Given the description of an element on the screen output the (x, y) to click on. 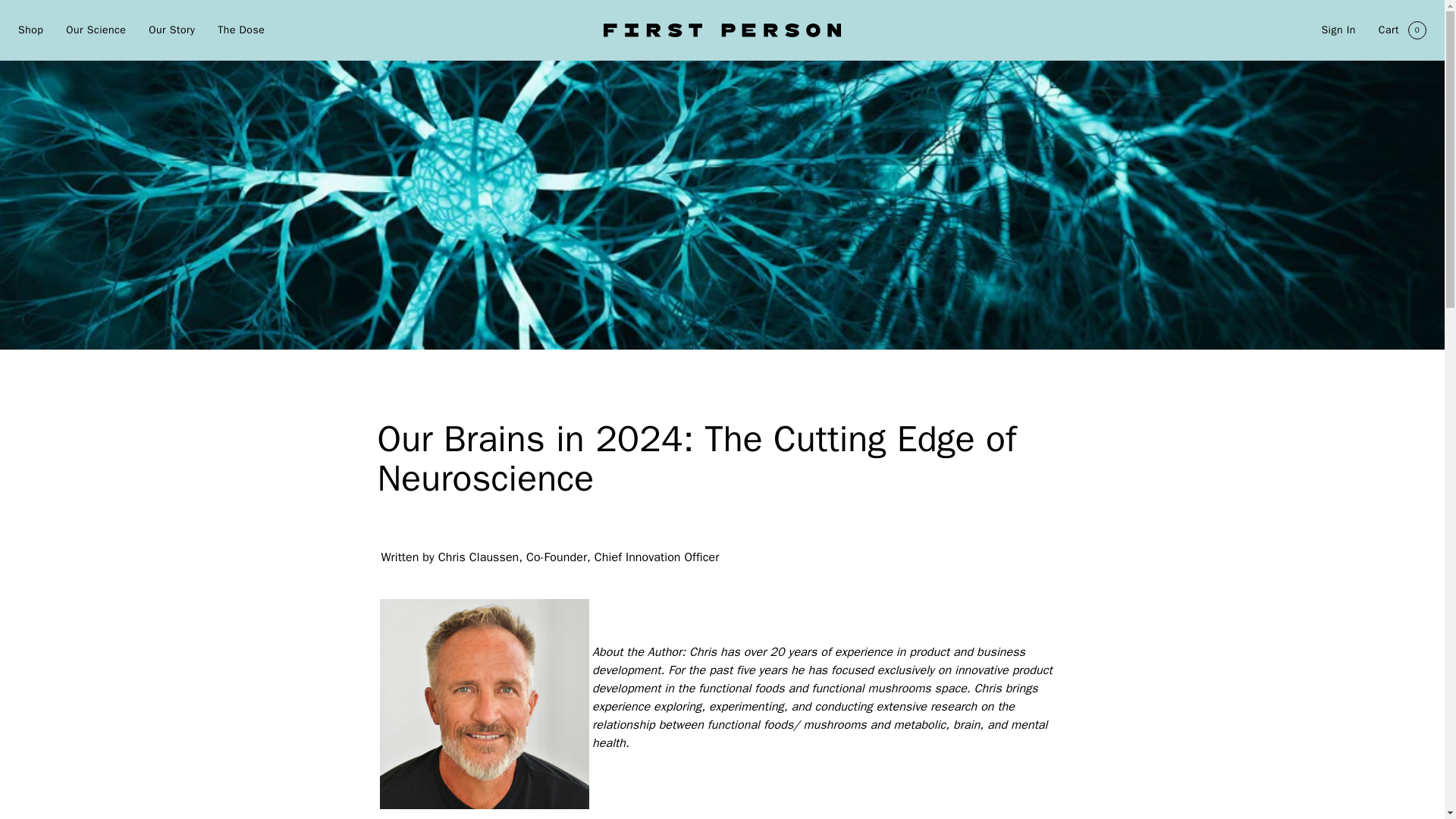
Our Science (95, 29)
Our Story (171, 29)
The Dose (240, 29)
Sign In (1402, 30)
